Given the description of an element on the screen output the (x, y) to click on. 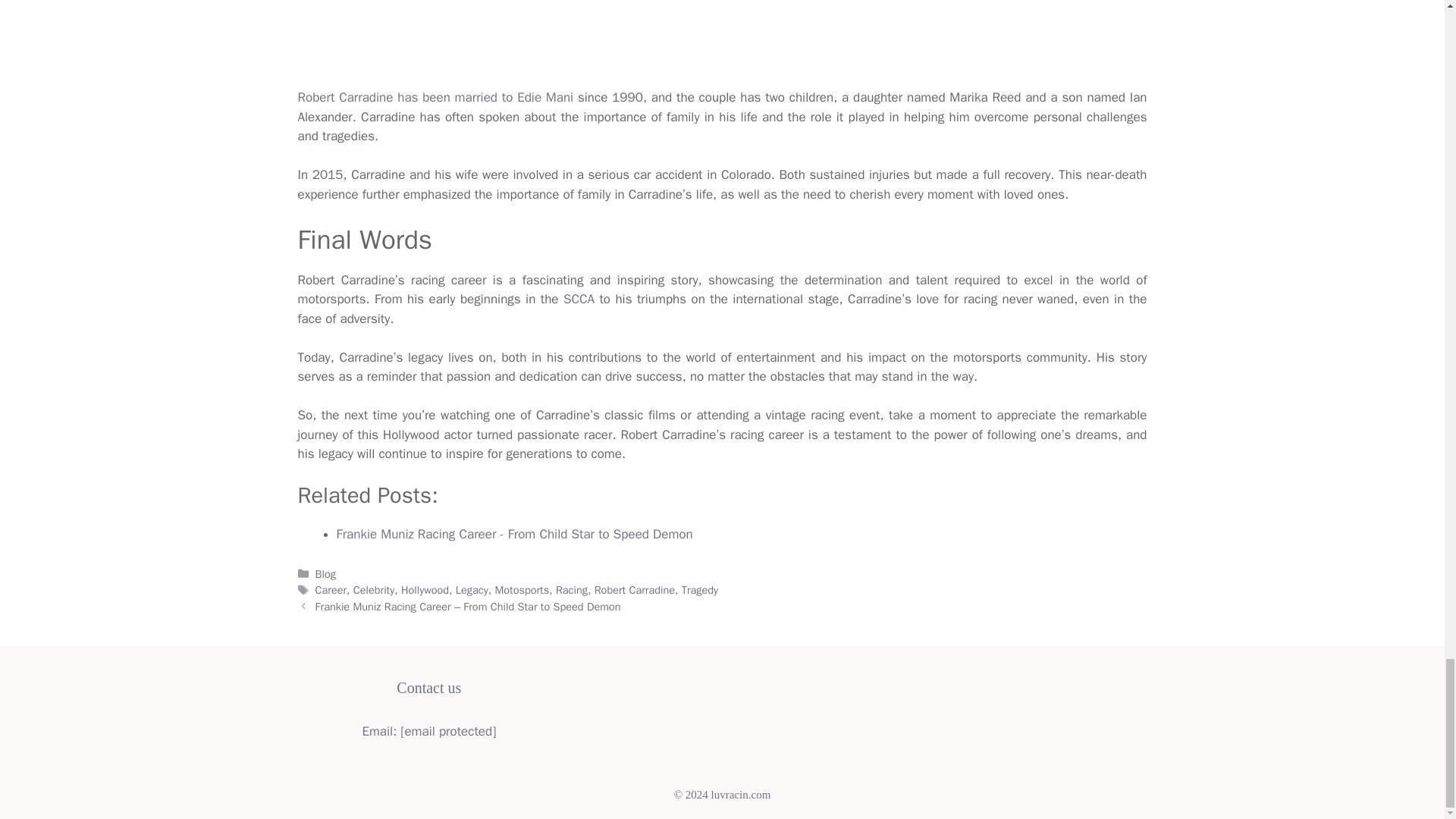
Legacy (471, 590)
Celebrity (373, 590)
Blog (325, 573)
Frankie Muniz Racing Career - From Child Star to Speed Demon (514, 534)
Robert Carradine has been married to Edie Mani (435, 97)
Tragedy (699, 590)
SCCA (578, 299)
Career (331, 590)
Motosports (521, 590)
Robert Carradine (634, 590)
Racing (572, 590)
Hollywood (424, 590)
